Given the description of an element on the screen output the (x, y) to click on. 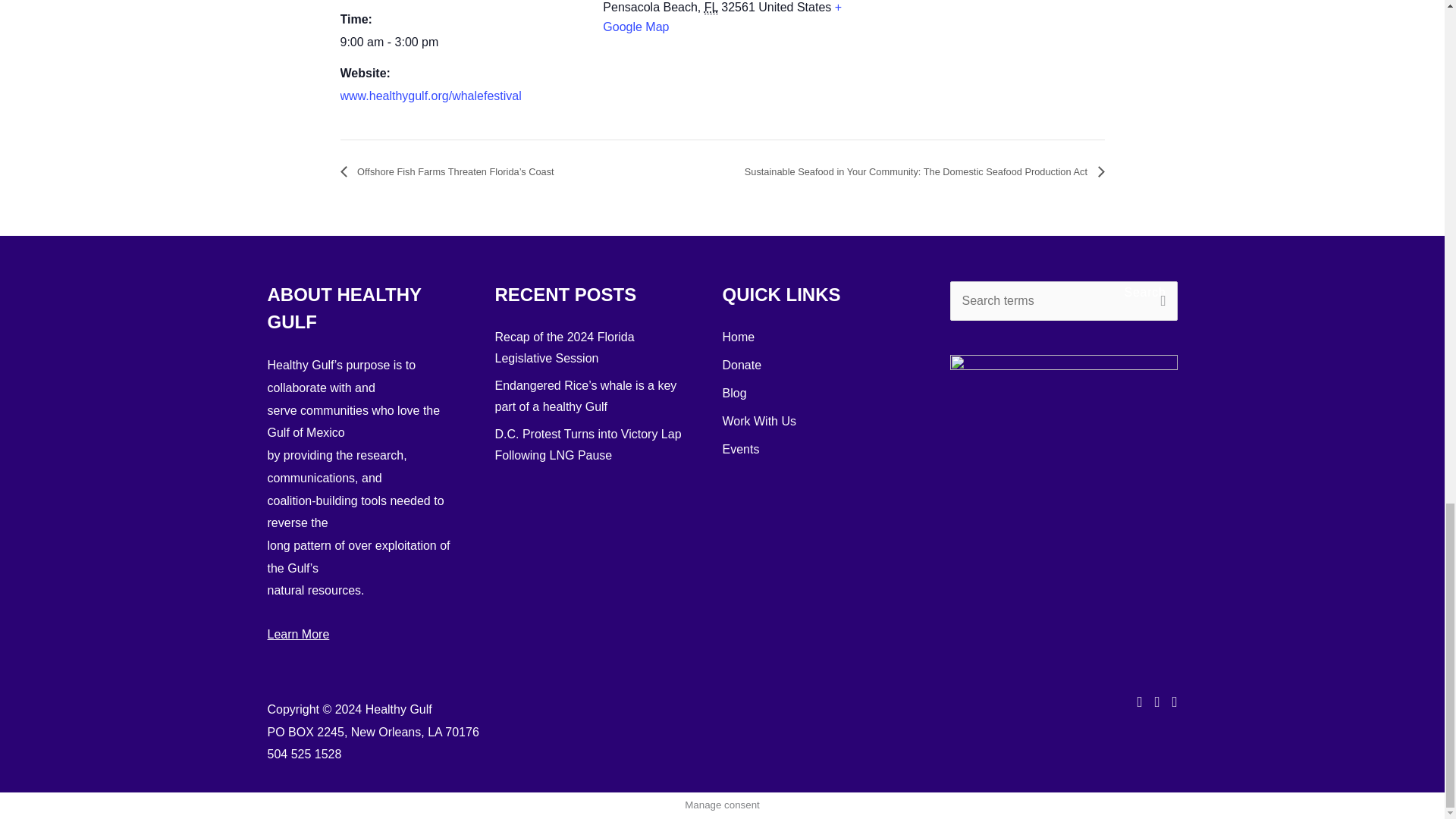
Search for: (1062, 301)
2024-04-27 (462, 42)
Click to view a Google Map (721, 16)
Florida (710, 7)
